Given the description of an element on the screen output the (x, y) to click on. 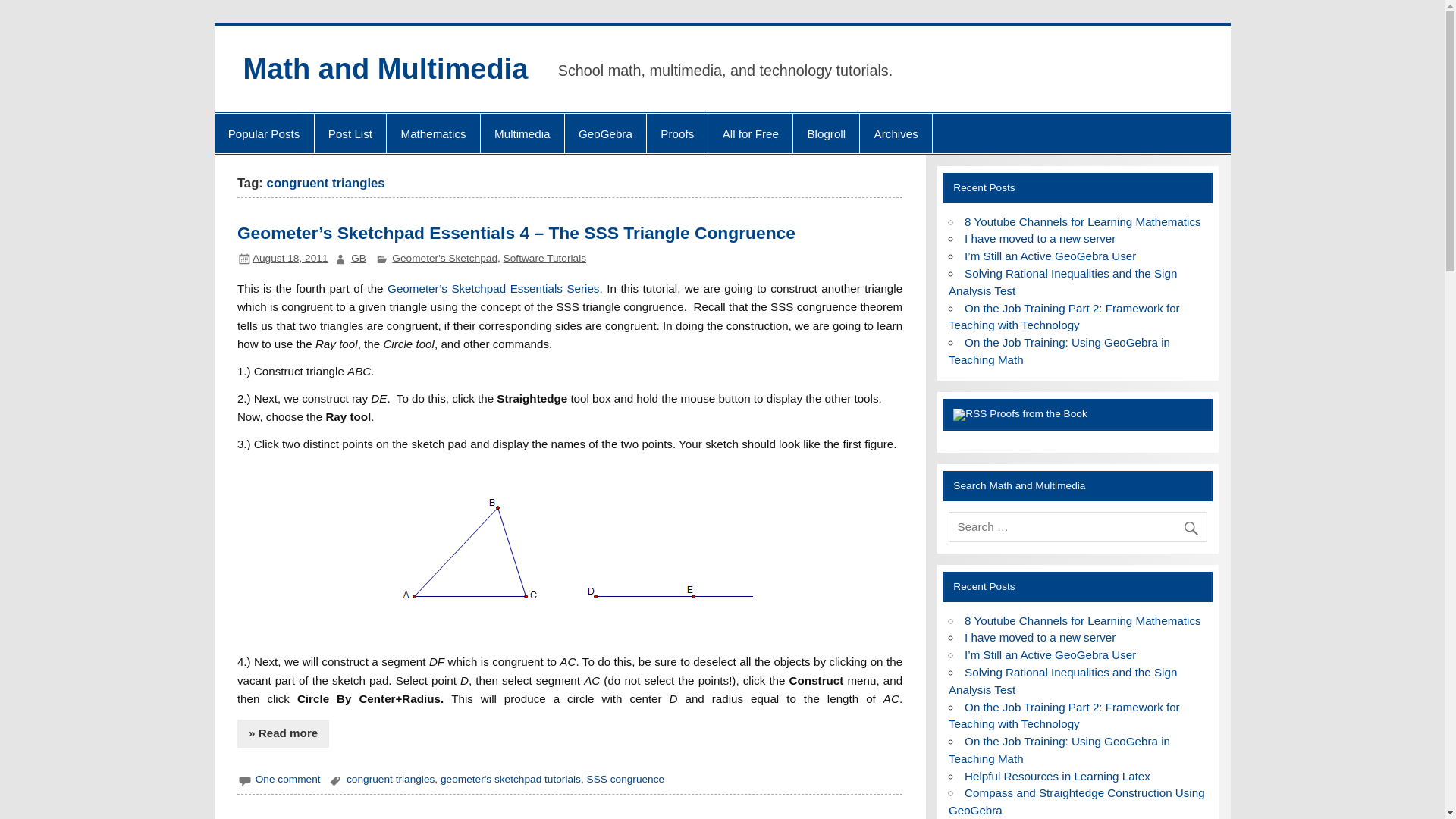
SSS congruence (625, 778)
GeoGebra (605, 133)
Archives (895, 133)
One comment (288, 778)
Multimedia (522, 133)
Proofs (676, 133)
Blogroll (826, 133)
12:01 am (290, 257)
Math and Multimedia (385, 69)
All for Free (749, 133)
